Given the description of an element on the screen output the (x, y) to click on. 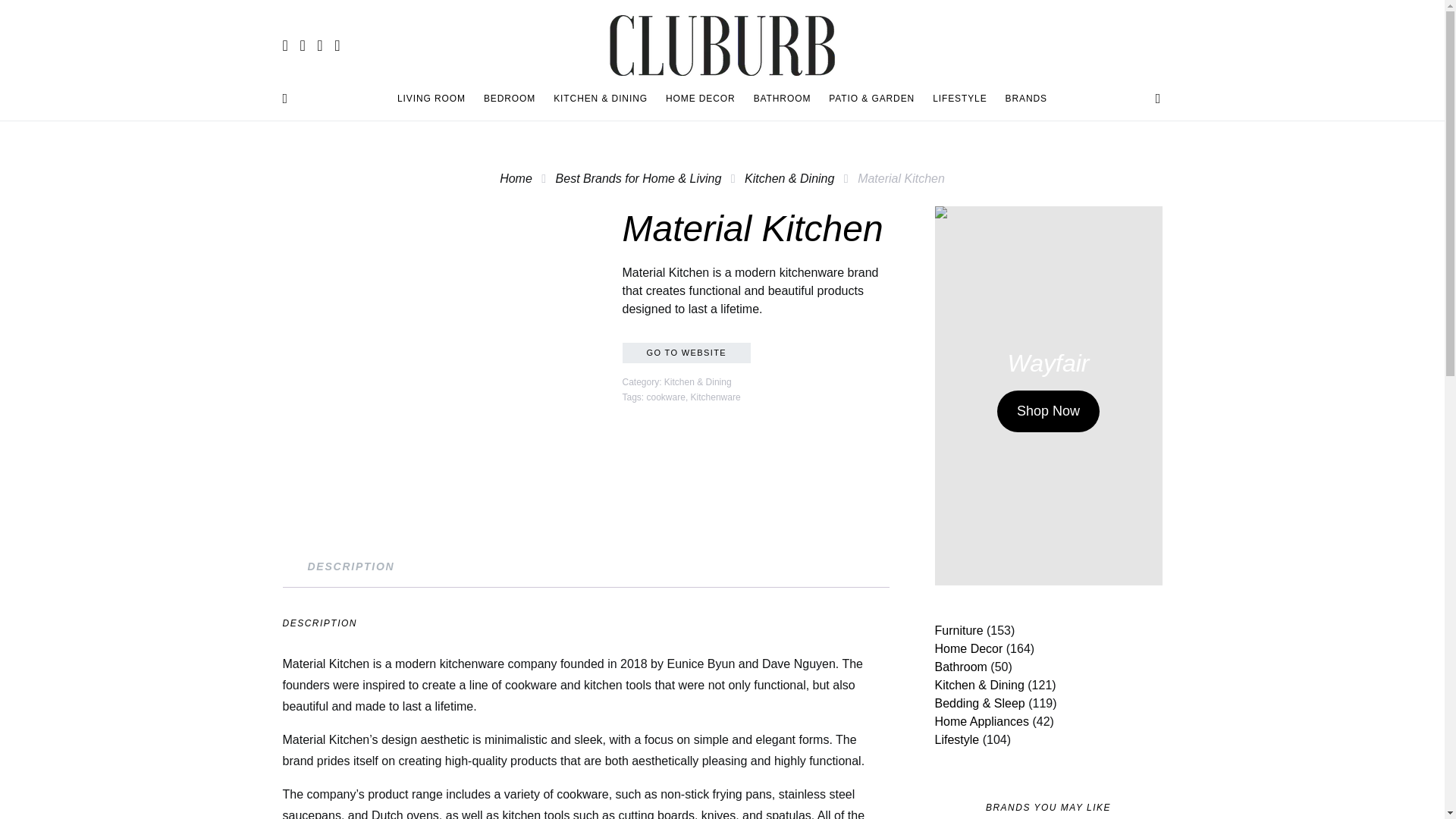
Home (515, 178)
LIVING ROOM (435, 98)
HOME DECOR (700, 98)
BRANDS (1020, 98)
LIFESTYLE (959, 98)
BEDROOM (509, 98)
GO TO WEBSITE (685, 353)
BATHROOM (782, 98)
